Given the description of an element on the screen output the (x, y) to click on. 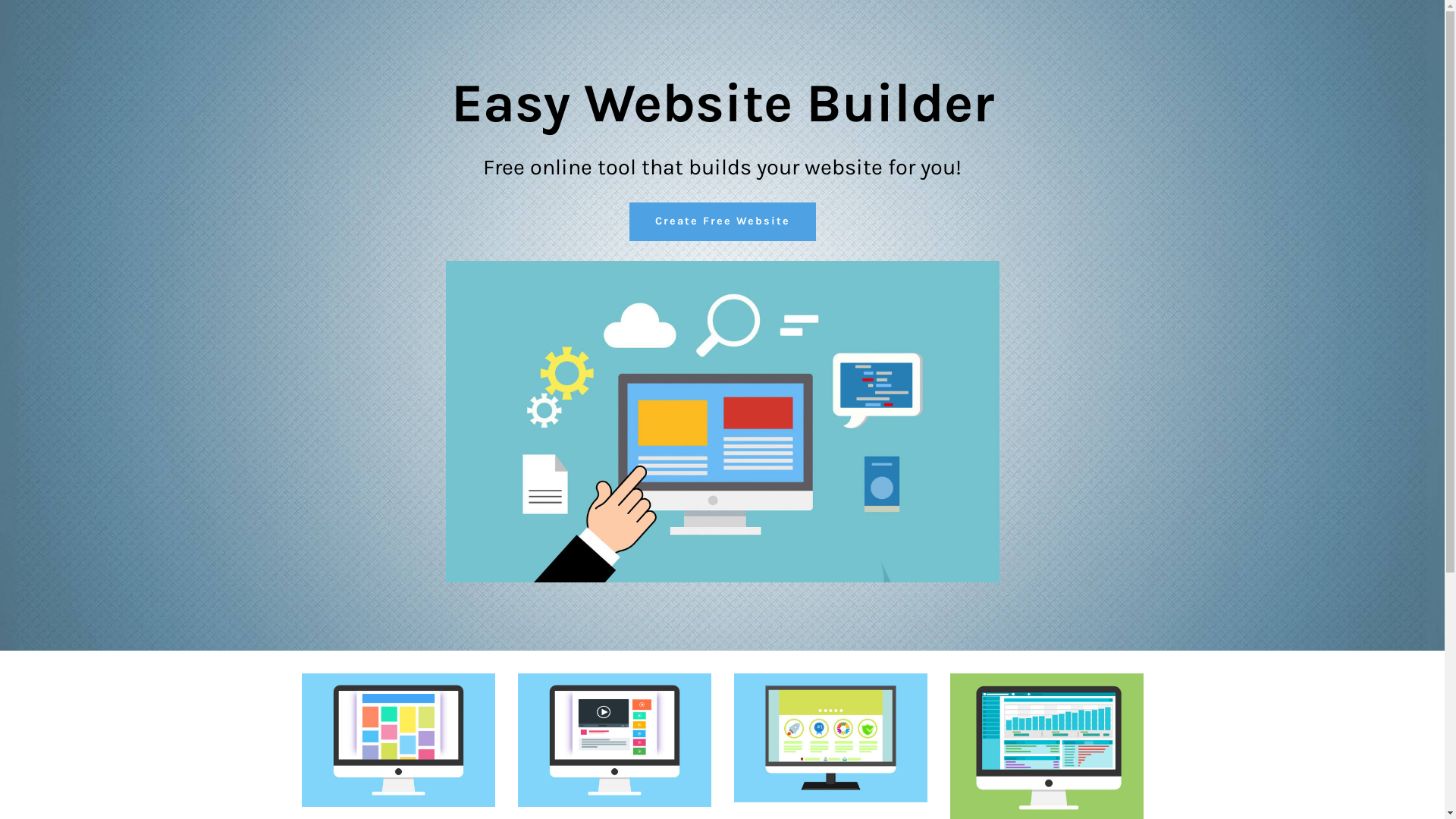
Create Free Website Element type: text (722, 221)
